Given the description of an element on the screen output the (x, y) to click on. 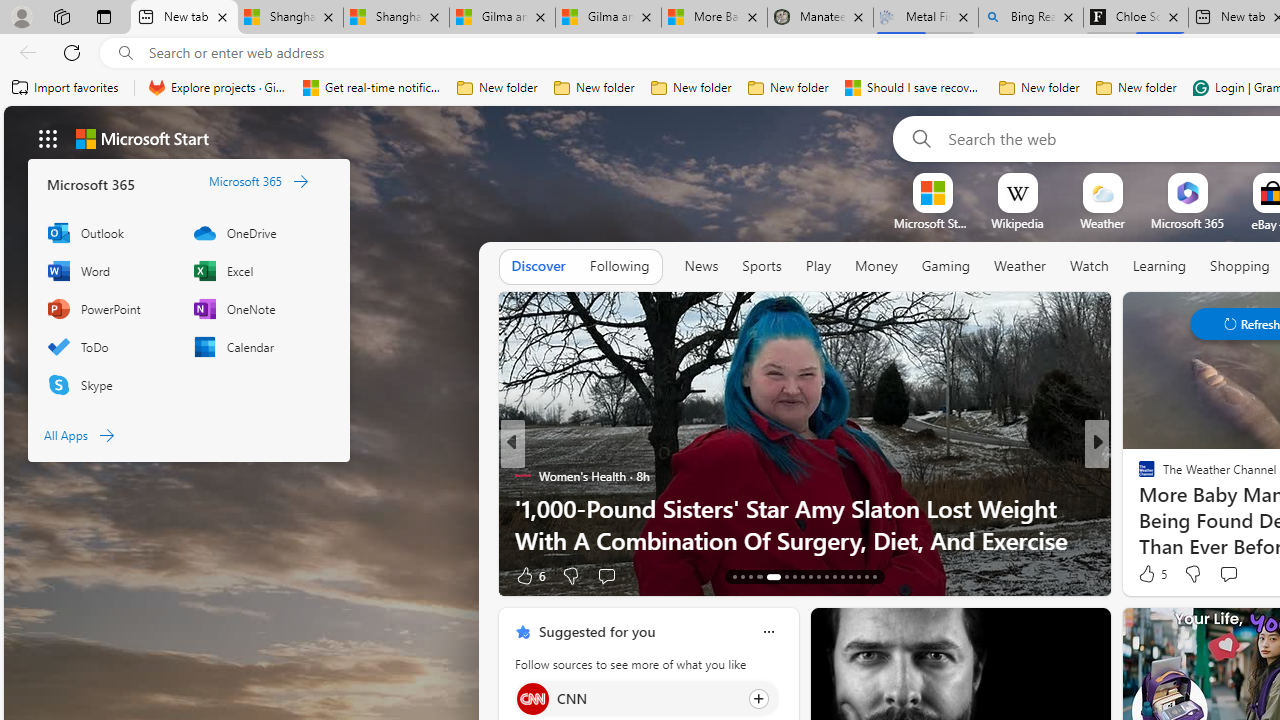
17 Like (1149, 574)
Go to All Apps (78, 434)
AutomationID: tab-13 (733, 576)
Outlook (110, 232)
Go to Microsoft 365 (258, 180)
View comments 5 Comment (1234, 575)
View comments 58 Comment (11, 575)
